Given the description of an element on the screen output the (x, y) to click on. 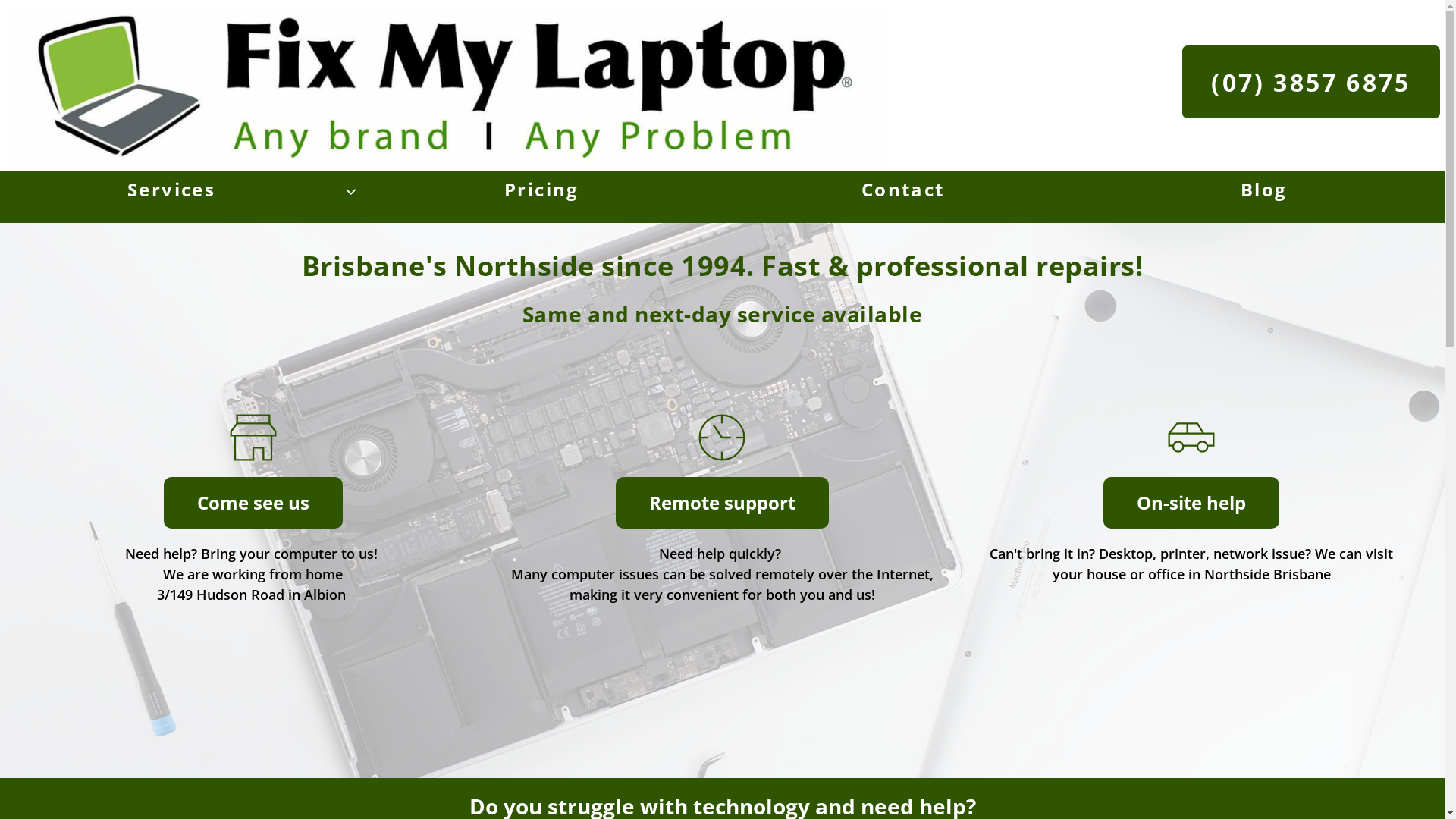
(07) 3857 6875 Element type: text (1311, 81)
Services Element type: text (180, 189)
Pricing Element type: text (540, 189)
Remote support Element type: text (721, 502)
On-site help Element type: text (1191, 502)
Come see us Element type: text (252, 502)
Blog Element type: text (1263, 189)
Contact Element type: text (901, 189)
